Given the description of an element on the screen output the (x, y) to click on. 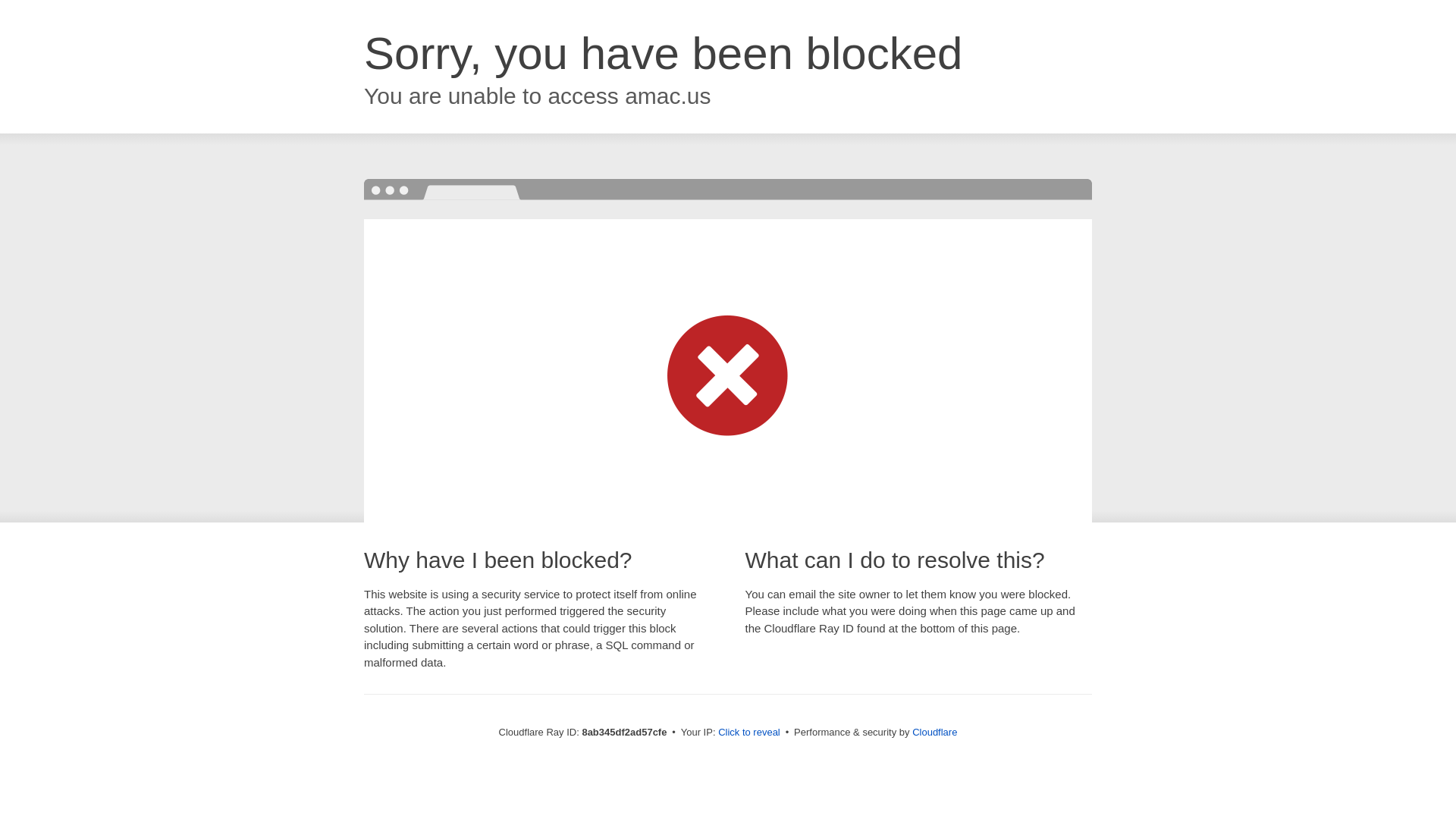
Cloudflare (934, 731)
Click to reveal (748, 732)
